Given the description of an element on the screen output the (x, y) to click on. 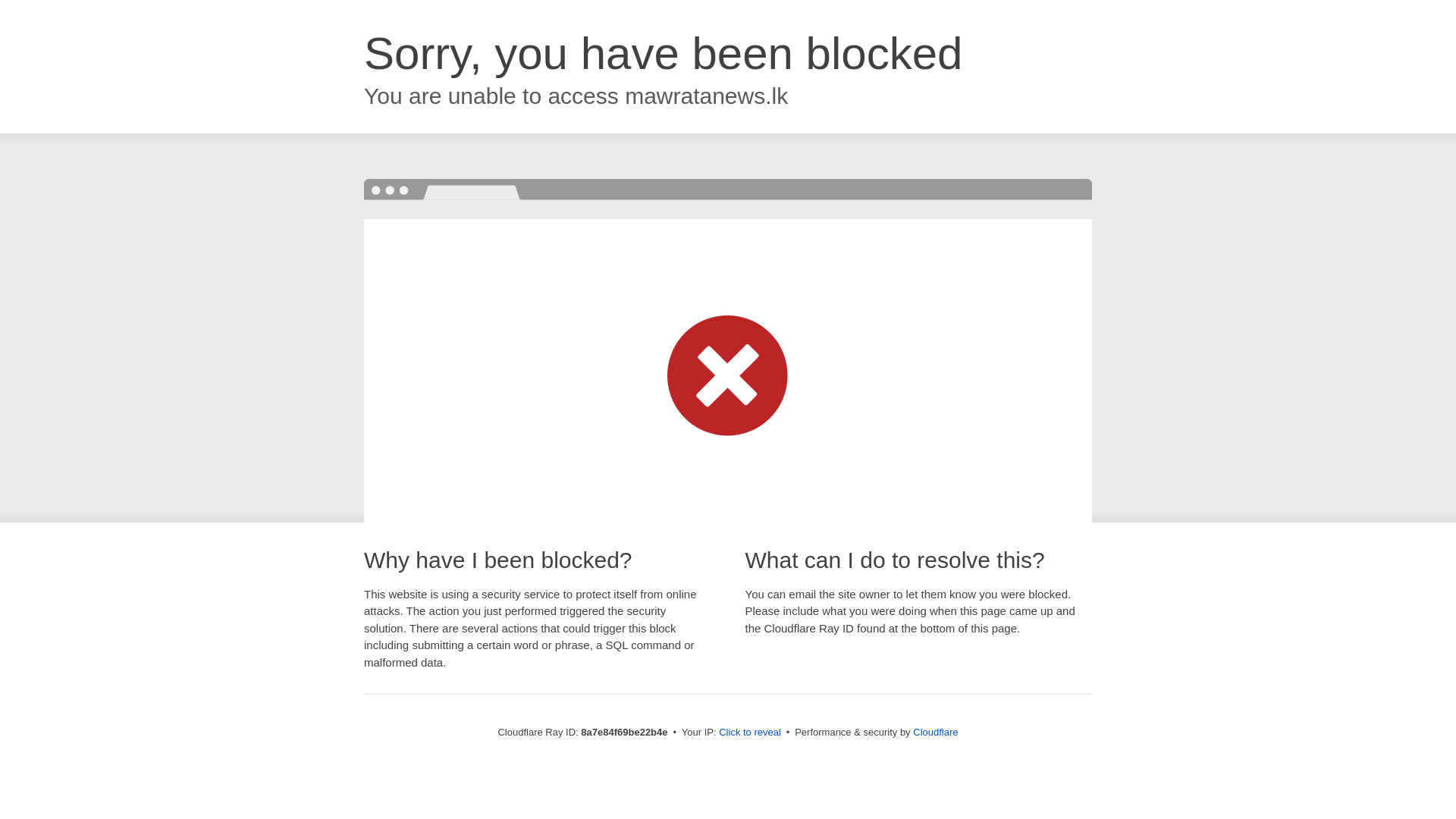
Cloudflare (935, 731)
Click to reveal (749, 732)
